Given the description of an element on the screen output the (x, y) to click on. 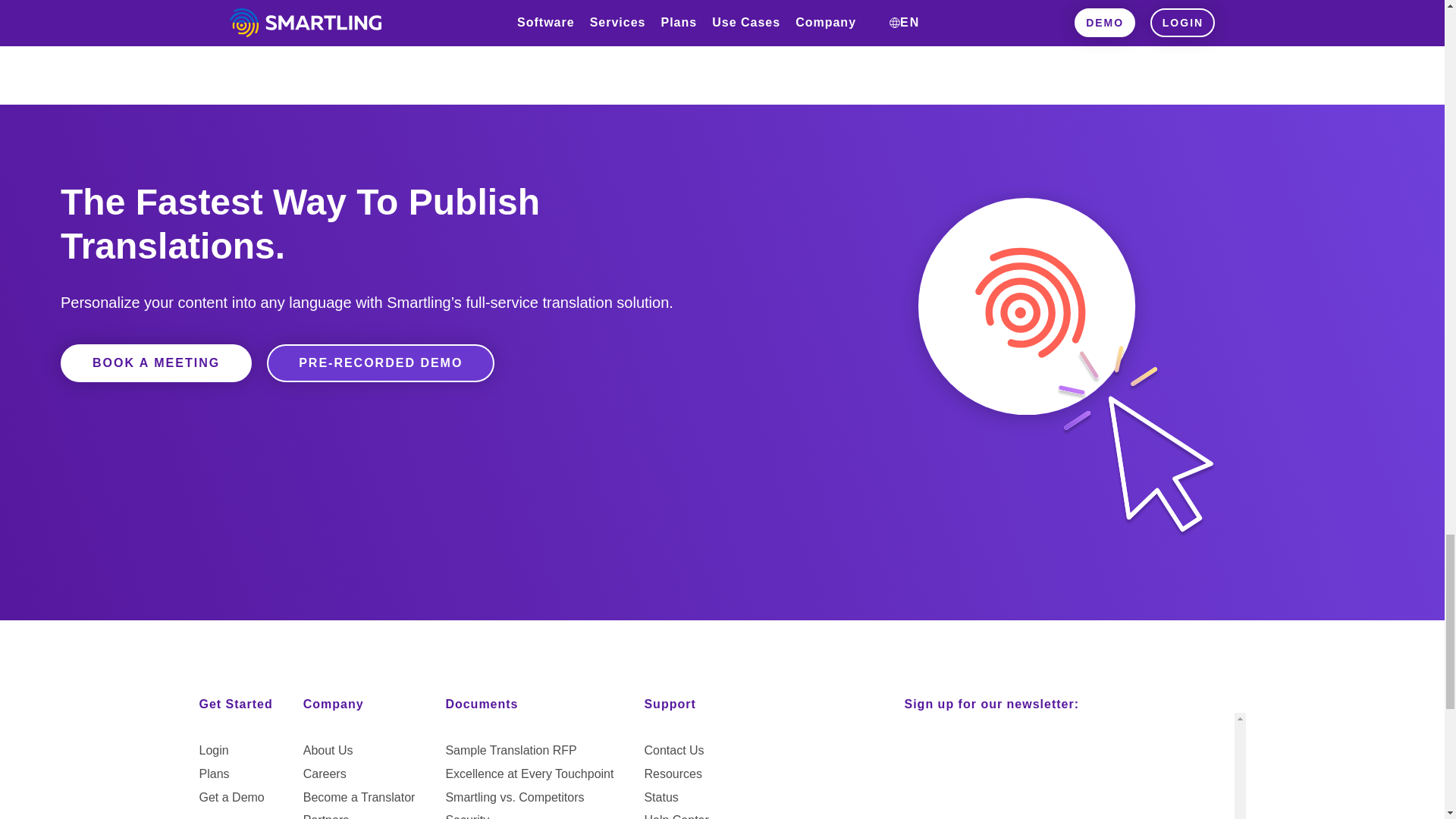
Pardot Form (1068, 765)
